Given the description of an element on the screen output the (x, y) to click on. 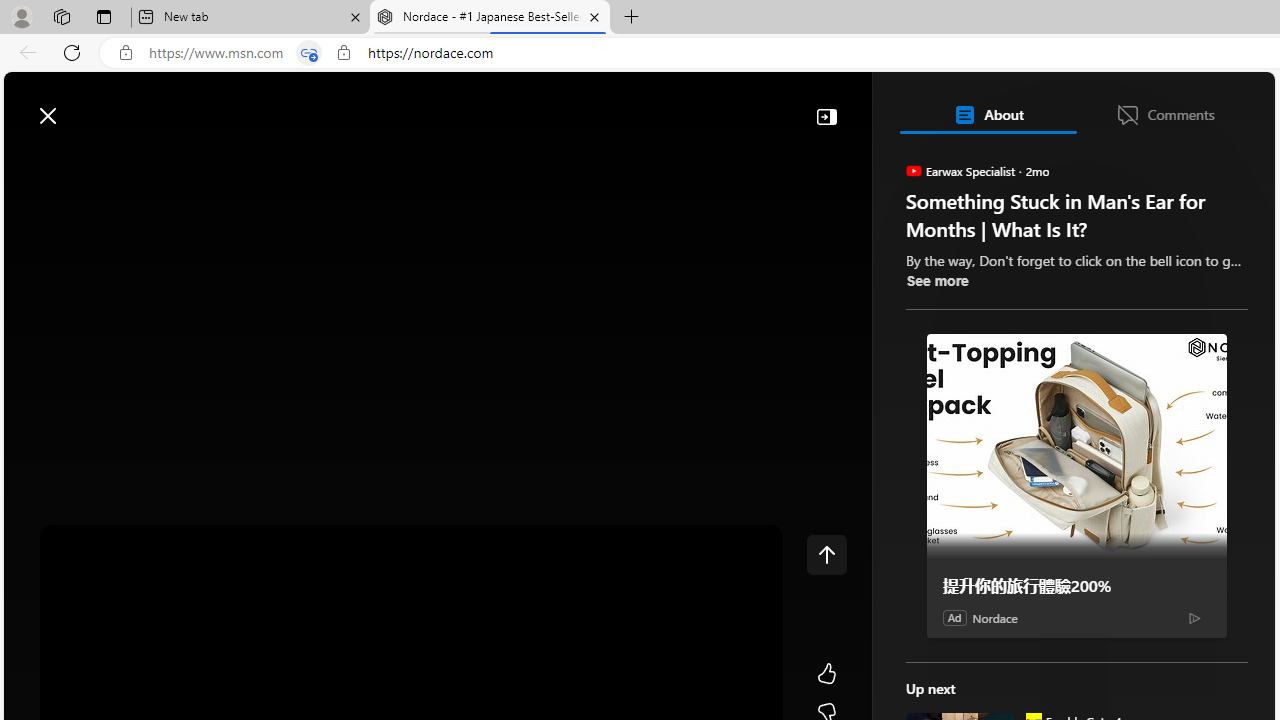
Open Copilot (995, 105)
Ad (954, 617)
Enter your search term (644, 106)
Nordace - #1 Japanese Best-Seller - Siena Smart Backpack (490, 17)
Following (173, 162)
